Given the description of an element on the screen output the (x, y) to click on. 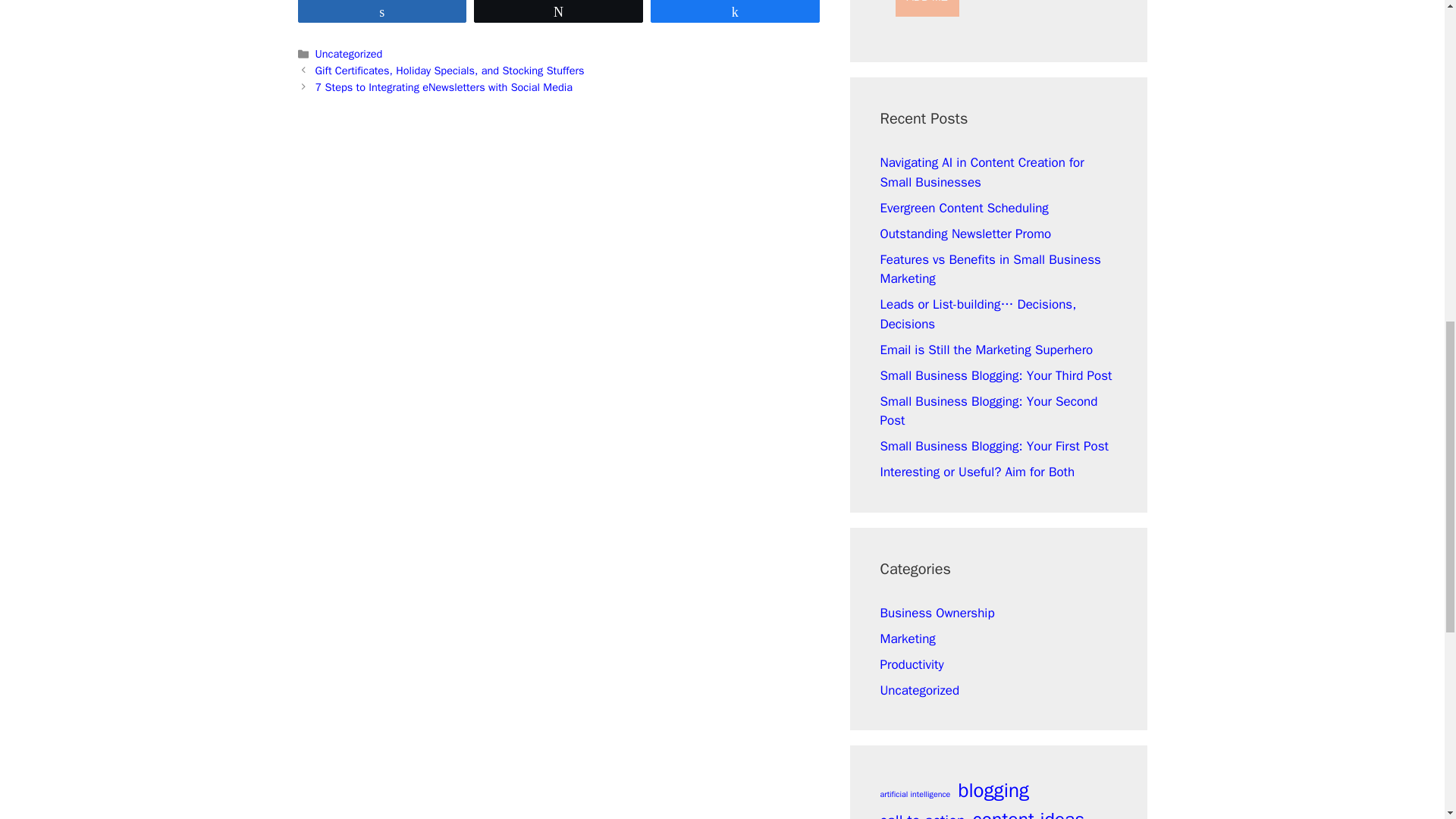
Email is Still the Marketing Superhero (986, 349)
Productivity (911, 664)
Uncategorized (919, 690)
Navigating AI in Content Creation for Small Businesses (981, 172)
Marketing (906, 638)
Interesting or Useful? Aim for Both (976, 471)
7 Steps to Integrating eNewsletters with Social Media (443, 87)
Gift Certificates, Holiday Specials, and Stocking Stuffers (450, 69)
Small Business Blogging: Your First Post (993, 446)
Small Business Blogging: Your Third Post (995, 375)
Scroll back to top (1406, 720)
Business Ownership (936, 612)
blogging (993, 790)
Evergreen Content Scheduling (963, 207)
call-to-action (921, 814)
